Given the description of an element on the screen output the (x, y) to click on. 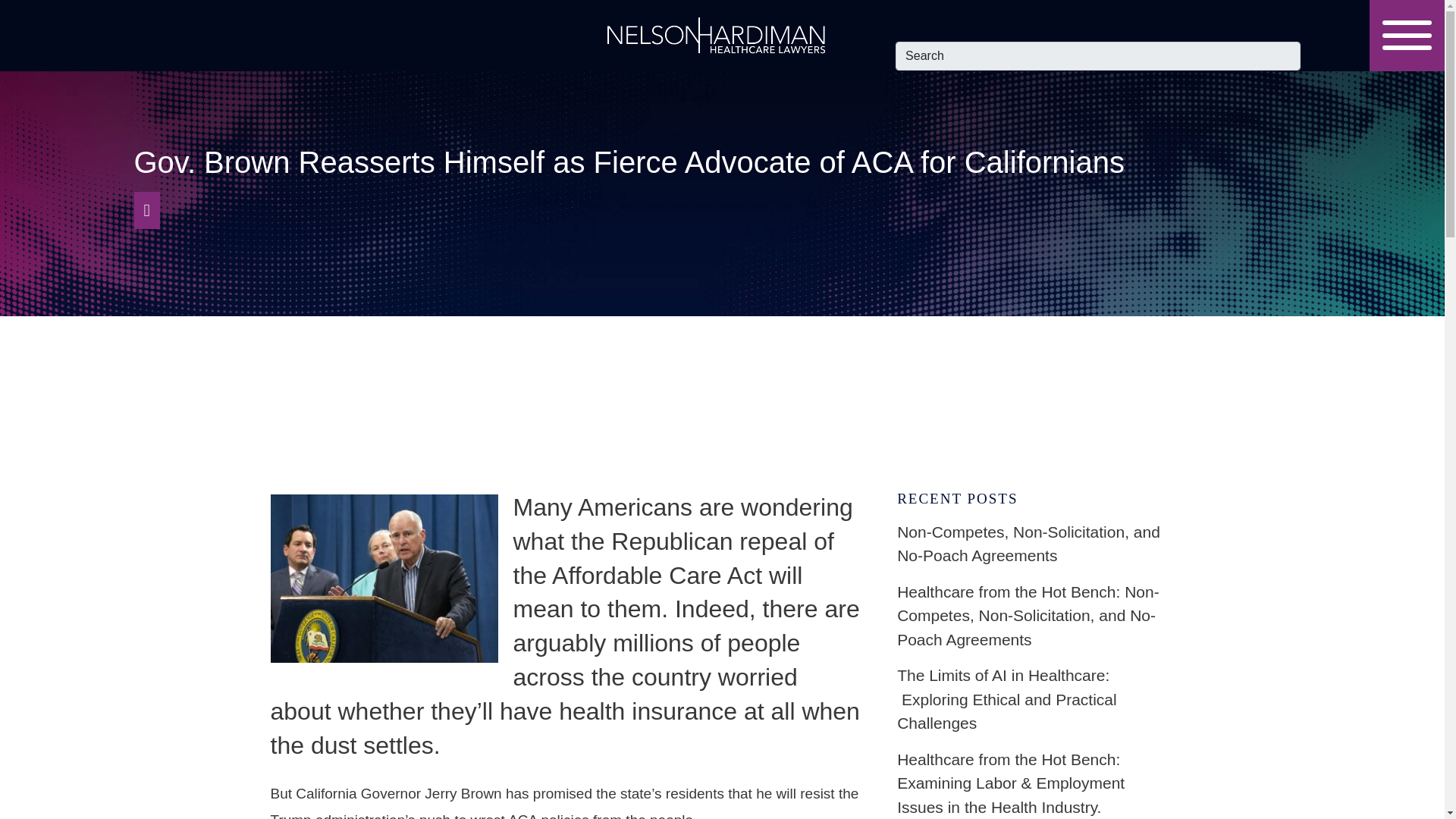
Search (1097, 55)
Type and press Enter to search. (1097, 55)
Search (1097, 55)
Non-Competes, Non-Solicitation, and No-Poach Agreements (1034, 544)
